Given the description of an element on the screen output the (x, y) to click on. 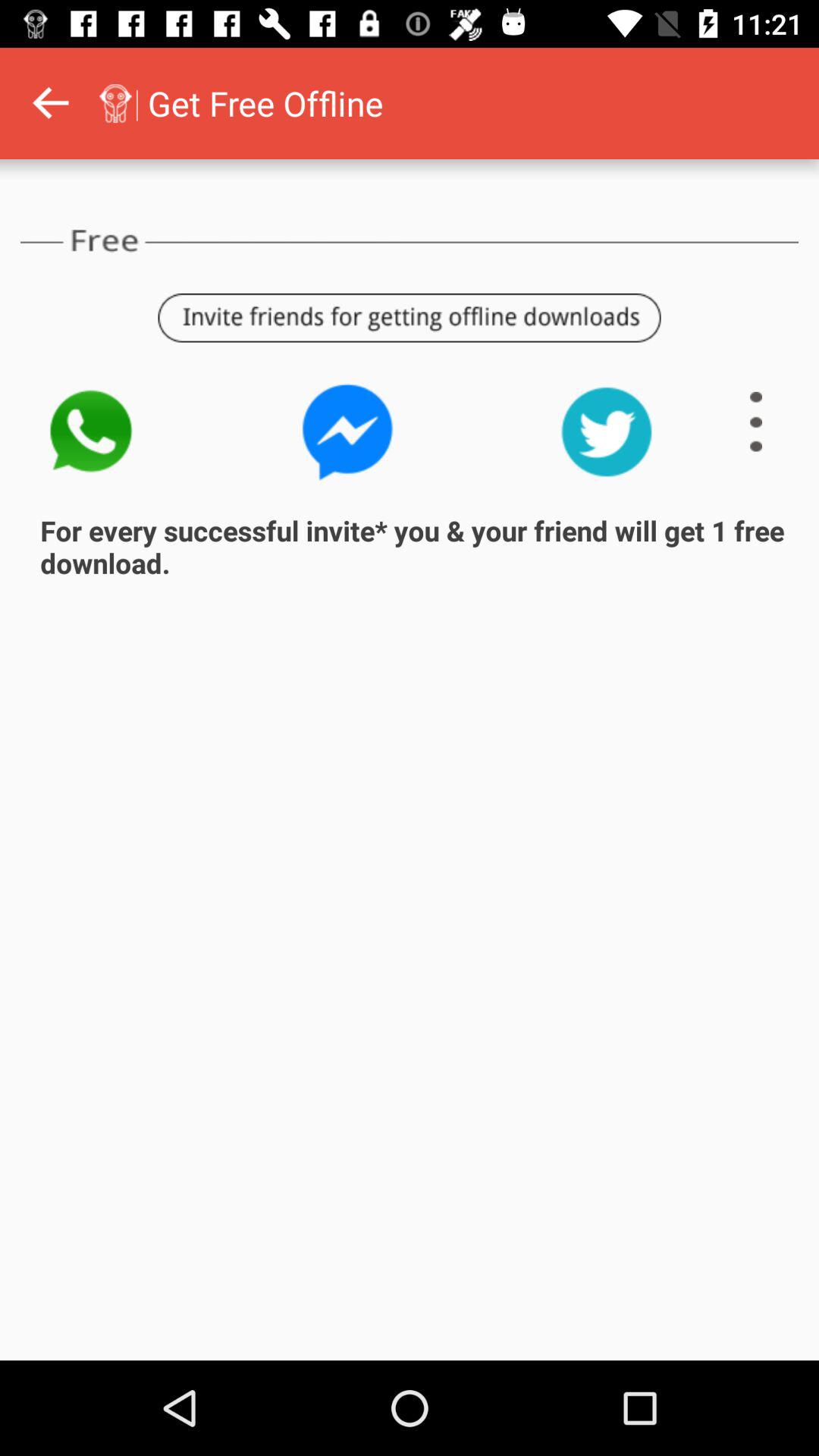
share to twitter (606, 431)
